Given the description of an element on the screen output the (x, y) to click on. 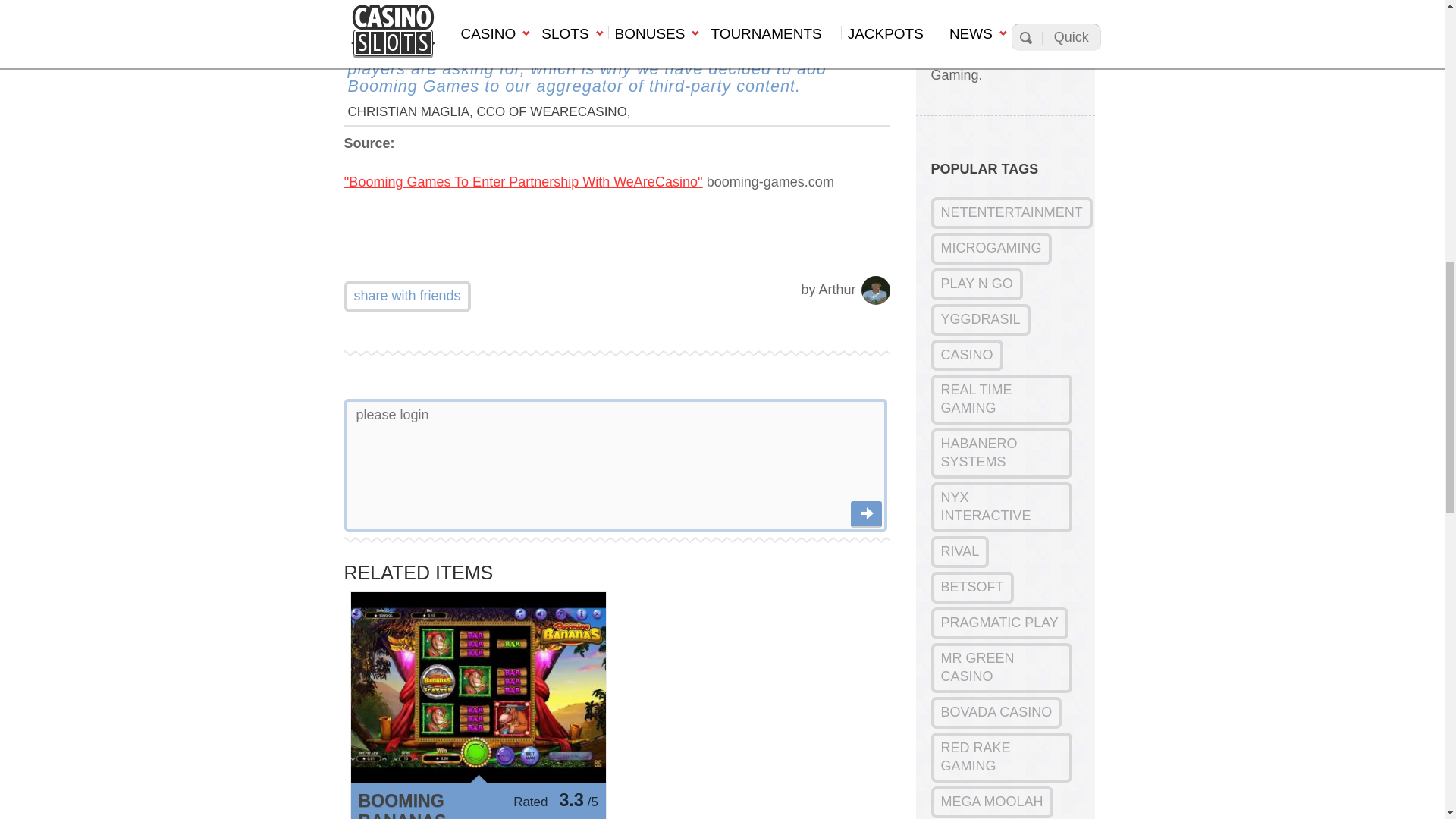
''Booming Games To Enter Partnership With WeAreCasino'' (523, 181)
''Booming Games To Enter Partnership With WeAreCasino'' (523, 181)
